Given the description of an element on the screen output the (x, y) to click on. 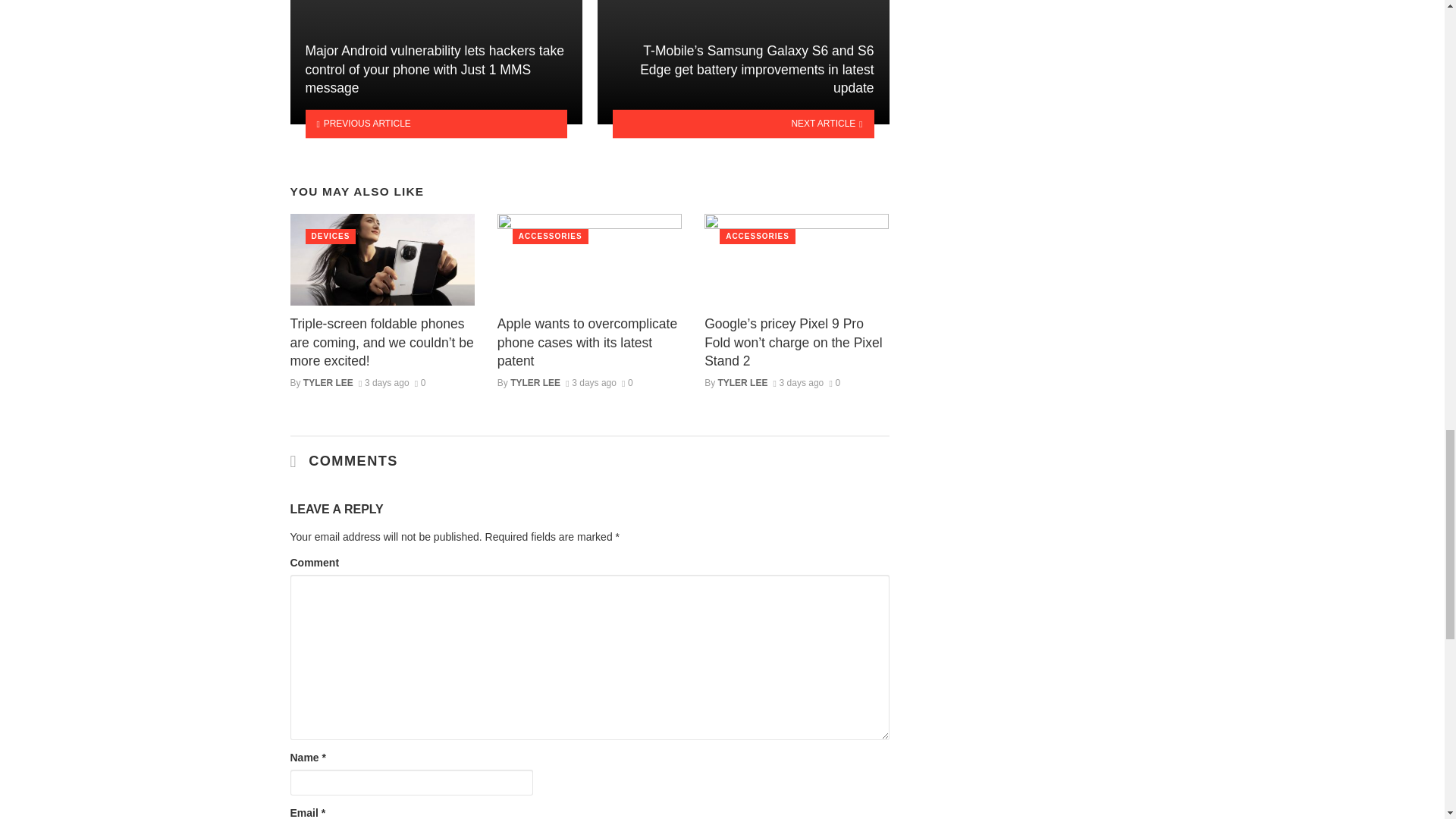
0 Comments (627, 382)
0 Comments (834, 382)
August 30, 2024 at 7:28 am (383, 382)
August 30, 2024 at 5:34 am (590, 382)
August 30, 2024 at 5:27 am (798, 382)
0 Comments (420, 382)
